Given the description of an element on the screen output the (x, y) to click on. 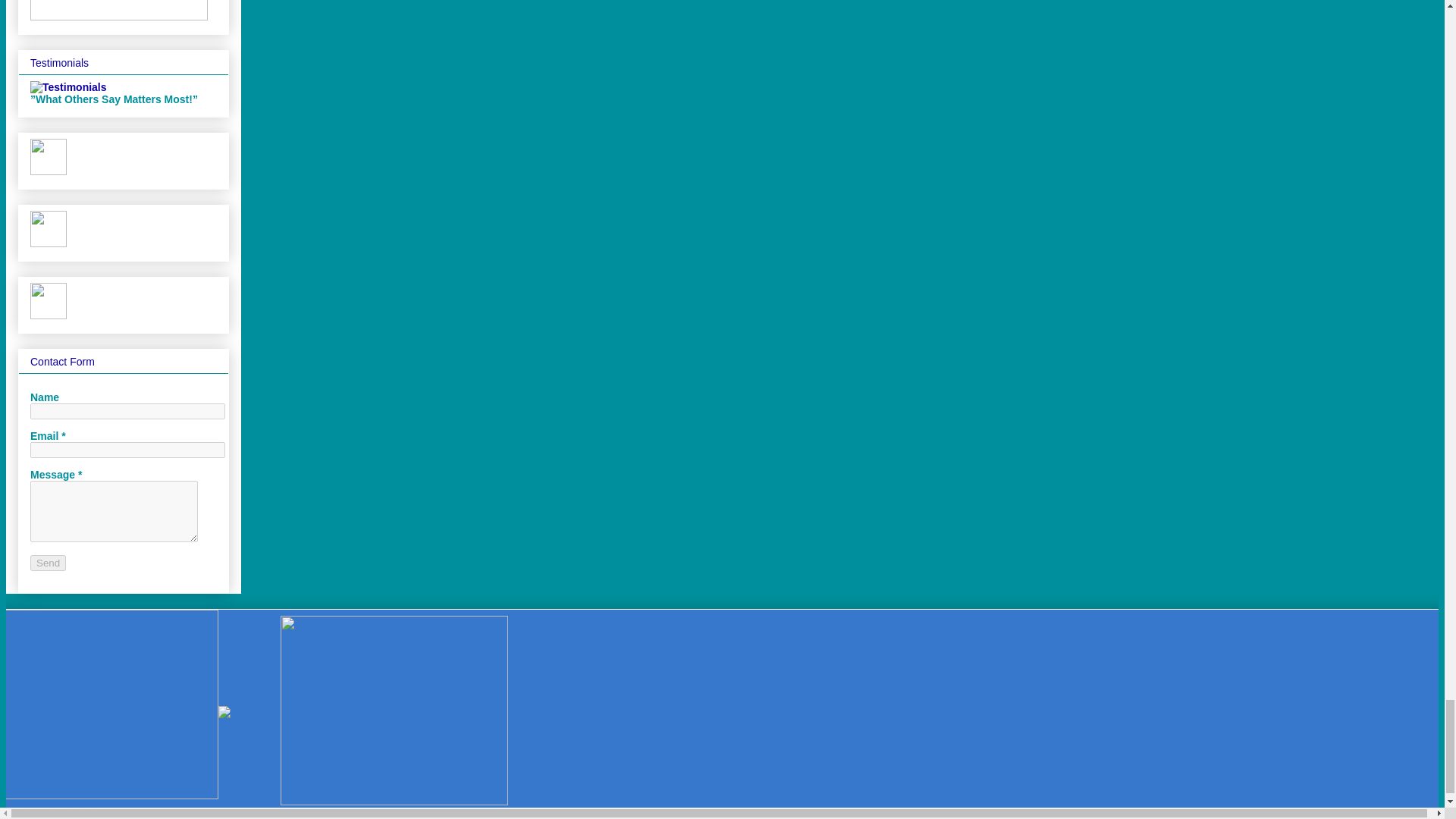
Send (47, 562)
